Given the description of an element on the screen output the (x, y) to click on. 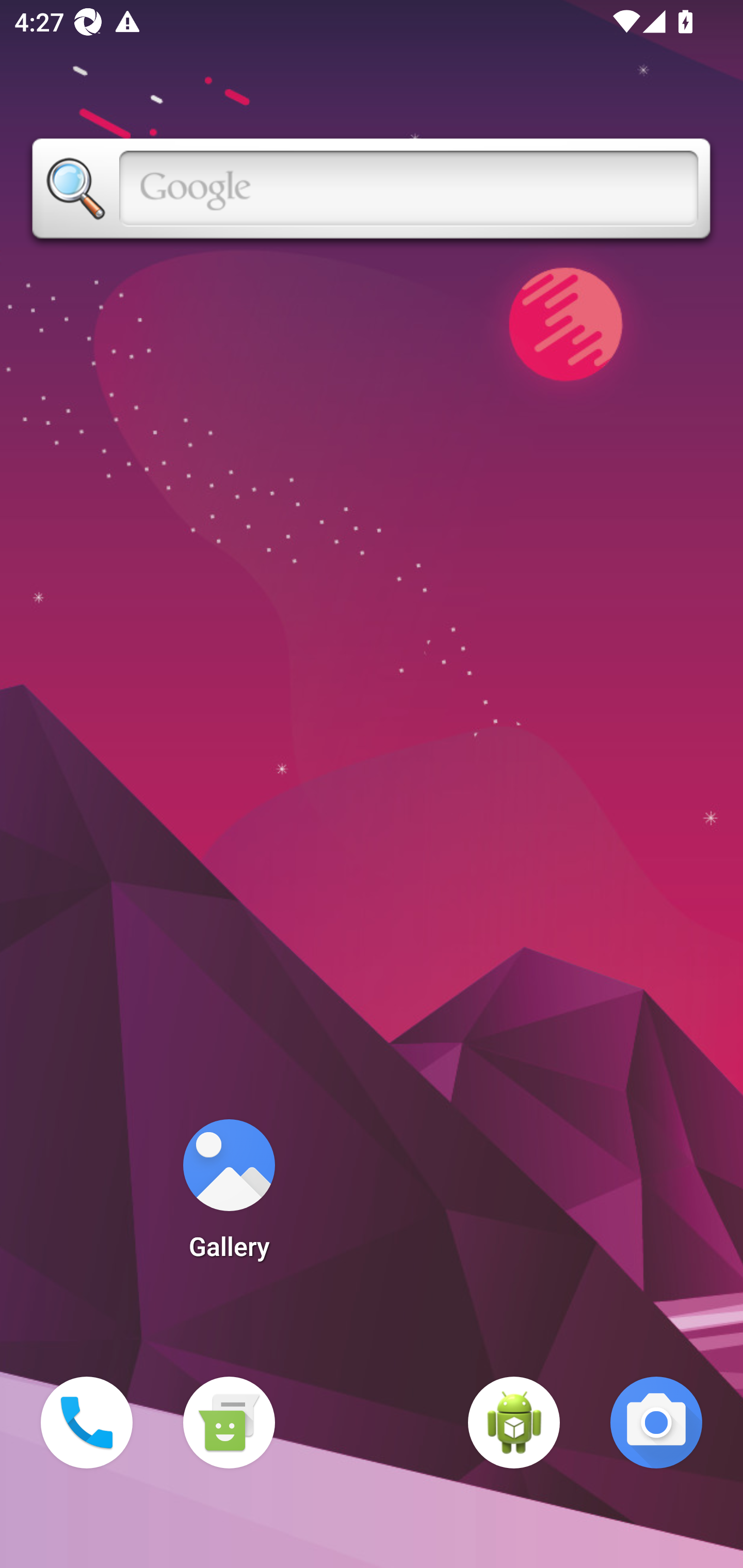
Gallery (228, 1195)
Phone (86, 1422)
Messaging (228, 1422)
WebView Browser Tester (513, 1422)
Camera (656, 1422)
